Given the description of an element on the screen output the (x, y) to click on. 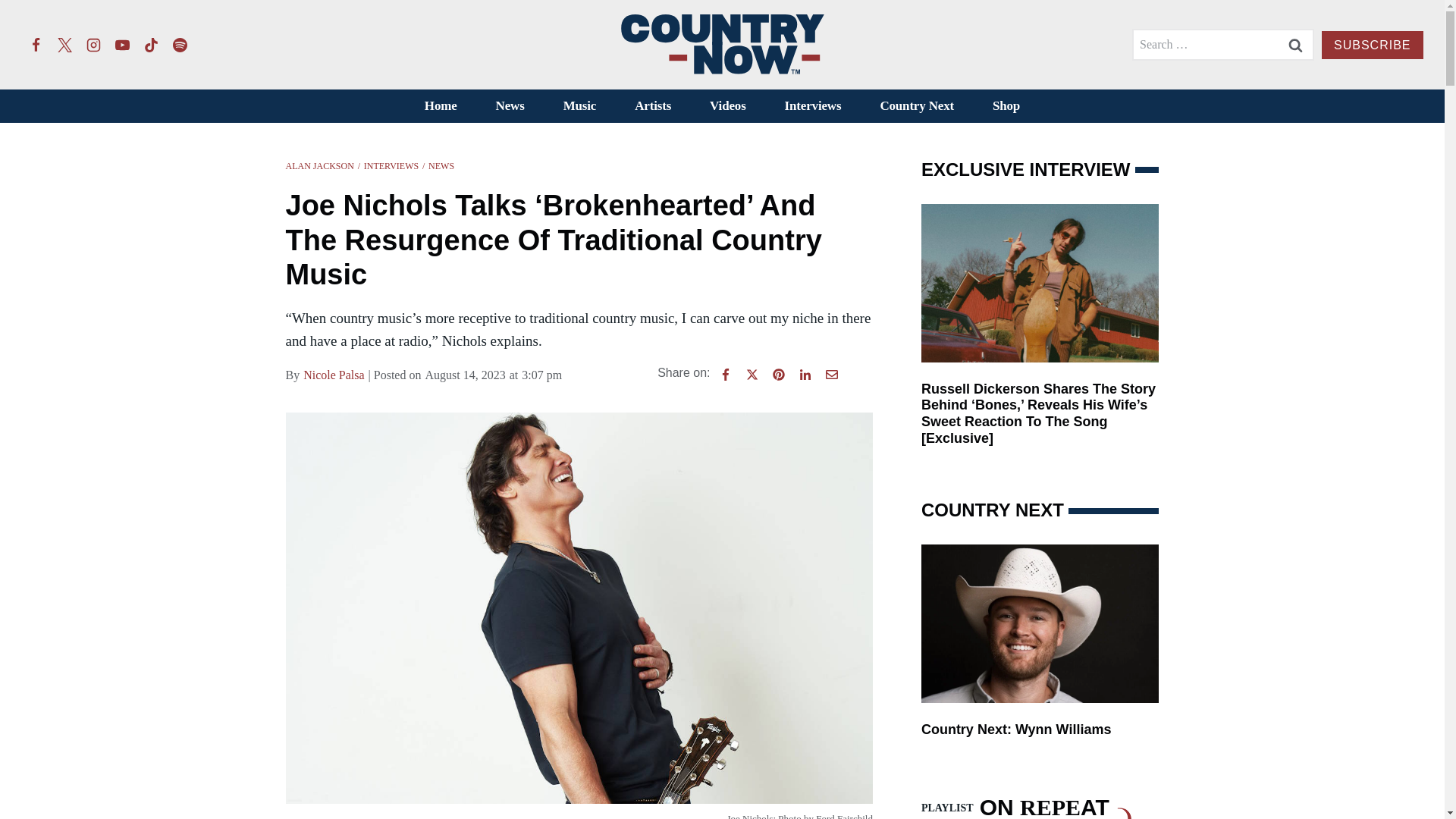
Nicole Palsa (333, 374)
INTERVIEWS (391, 165)
News (509, 105)
Search (1295, 44)
Shop (1005, 105)
NEWS (441, 165)
Country Next (917, 105)
Home (440, 105)
Music (579, 105)
Artists (652, 105)
Search (1295, 44)
Search (1295, 44)
SUBSCRIBE (1372, 44)
ALAN JACKSON (319, 165)
Interviews (812, 105)
